Given the description of an element on the screen output the (x, y) to click on. 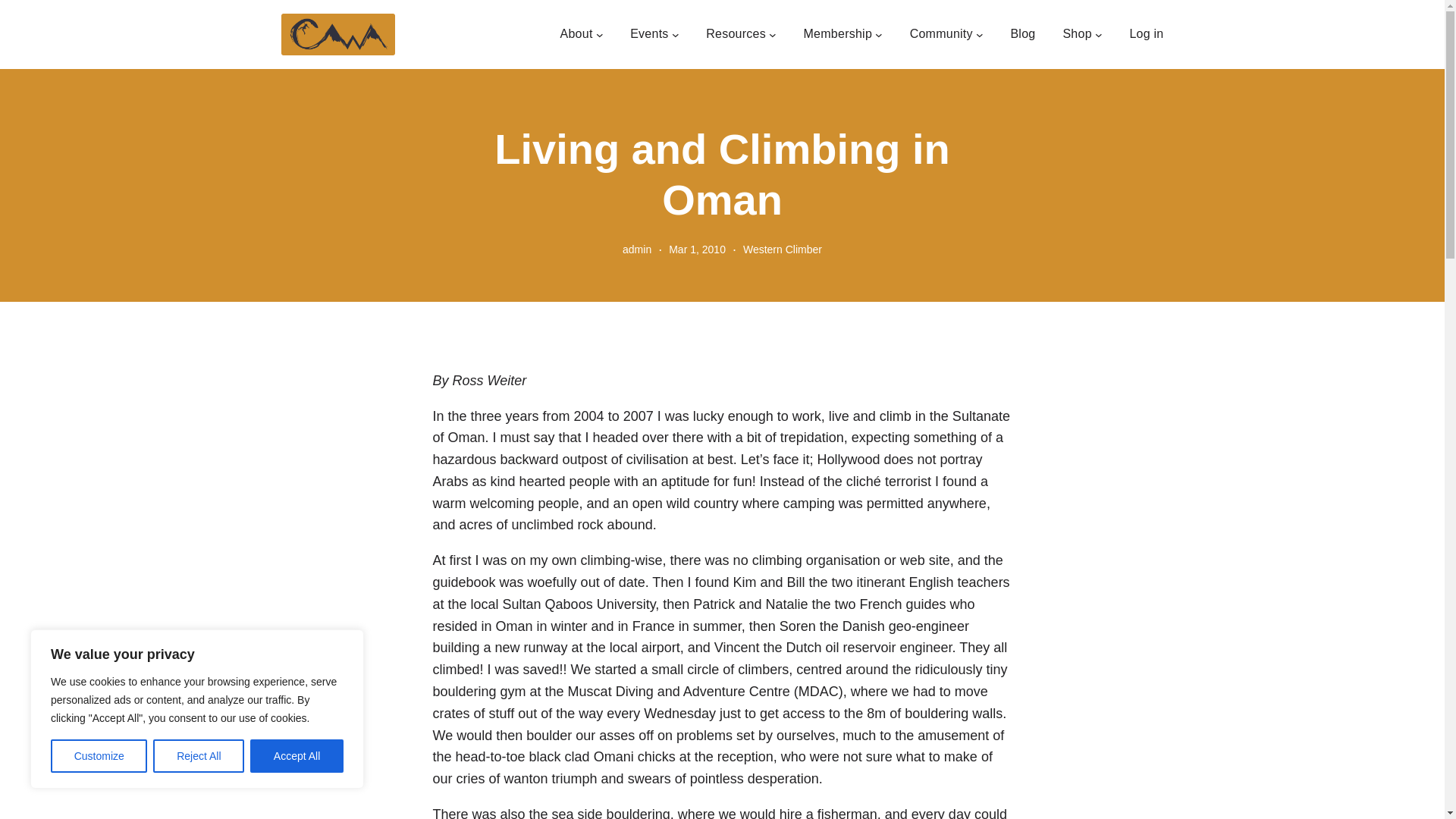
Customize (98, 756)
Events (649, 34)
About (576, 34)
Accept All (296, 756)
Resources (735, 34)
Reject All (198, 756)
